Given the description of an element on the screen output the (x, y) to click on. 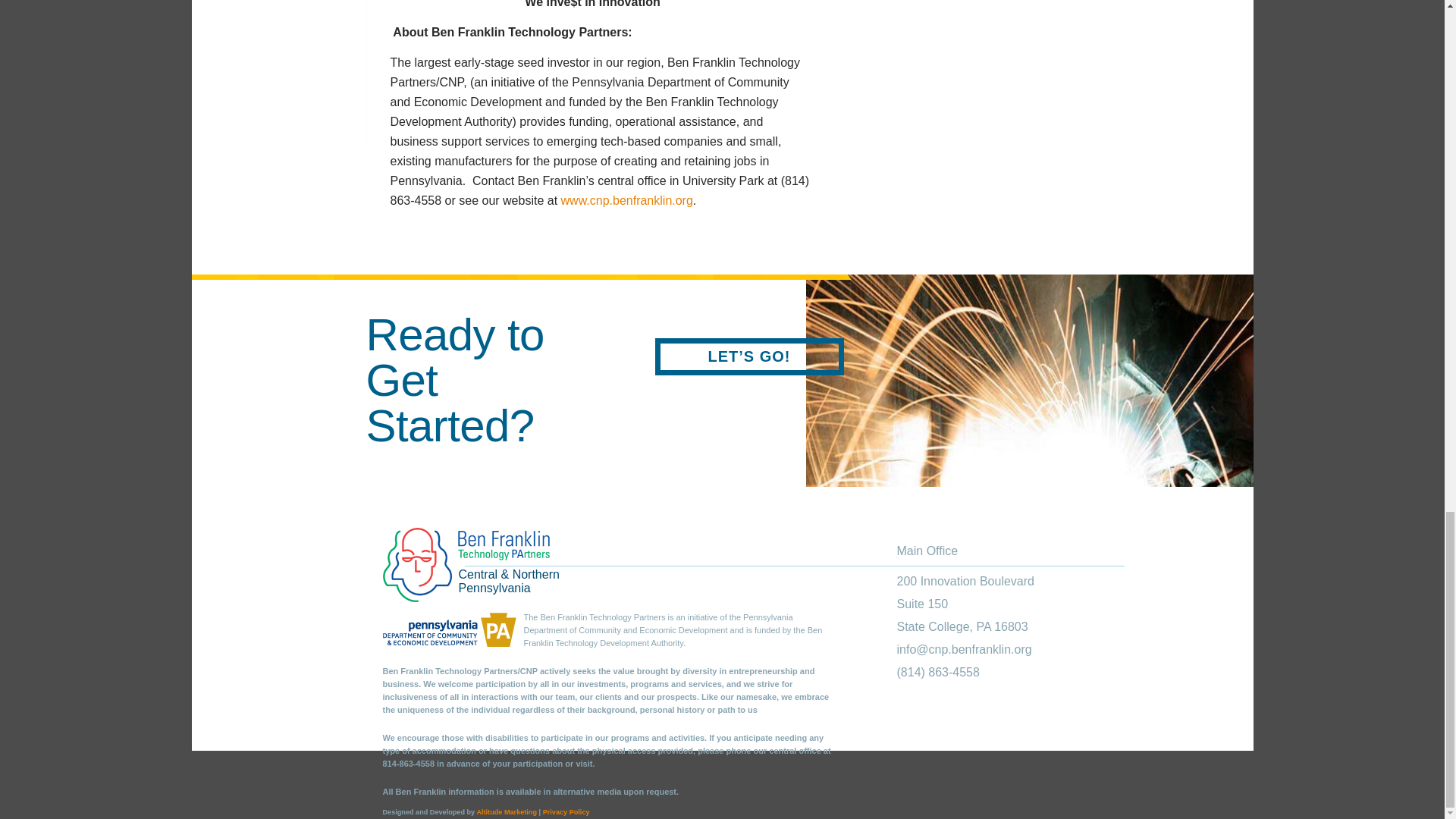
www.cnp.benfranklin.org (626, 200)
Altitude Marketing (506, 811)
Privacy Policy (566, 811)
